Given the description of an element on the screen output the (x, y) to click on. 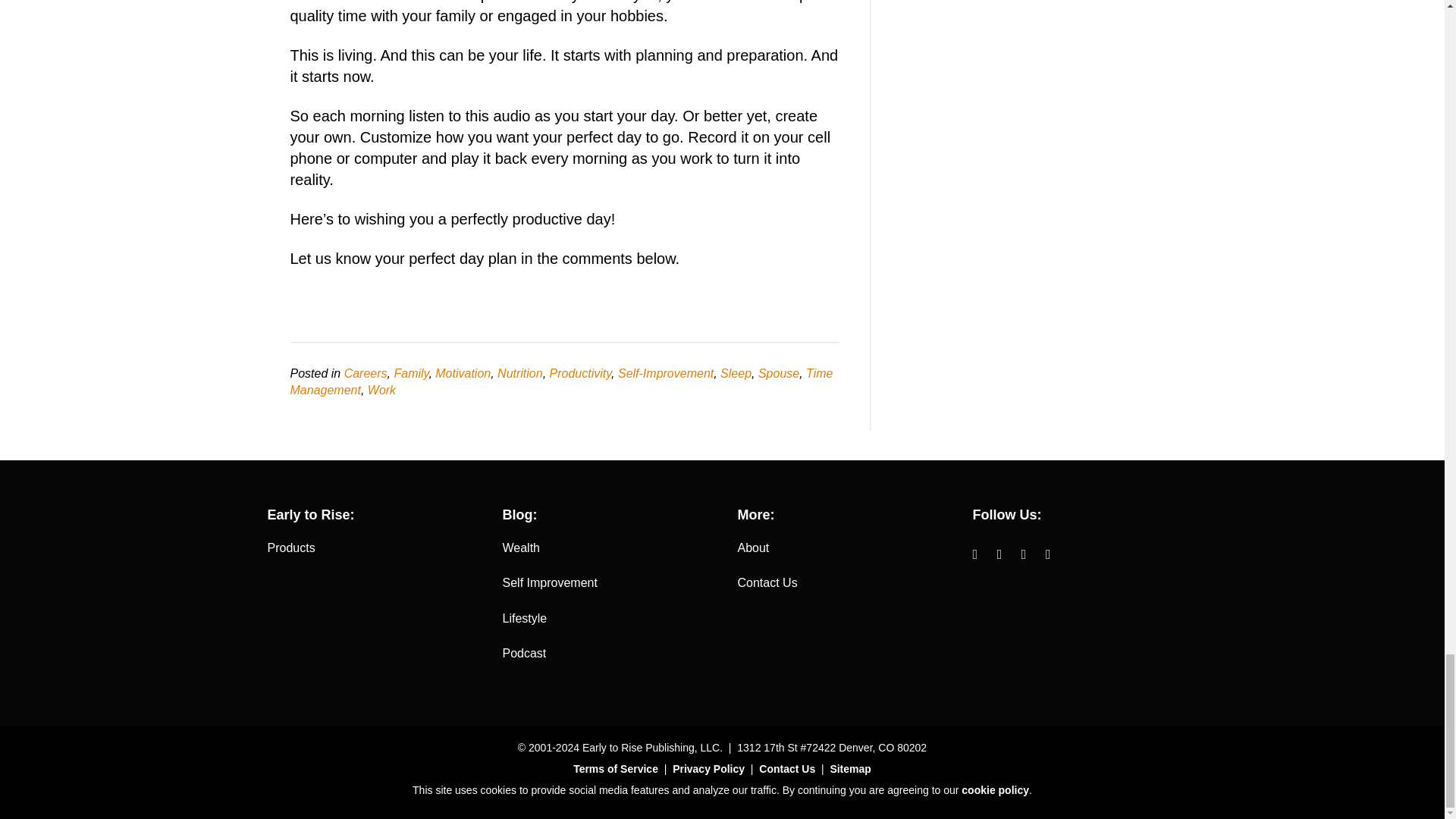
Careers (365, 373)
Privacy Policy (708, 768)
About (752, 547)
Self-Improvement (665, 373)
Motivation (462, 373)
Wealth (521, 547)
Terms of Service (615, 768)
Spouse (778, 373)
Products (290, 547)
Family (410, 373)
Sleep (735, 373)
Time Management (560, 381)
Contact Us (766, 582)
Contact Us (786, 768)
Lifestyle (524, 617)
